Given the description of an element on the screen output the (x, y) to click on. 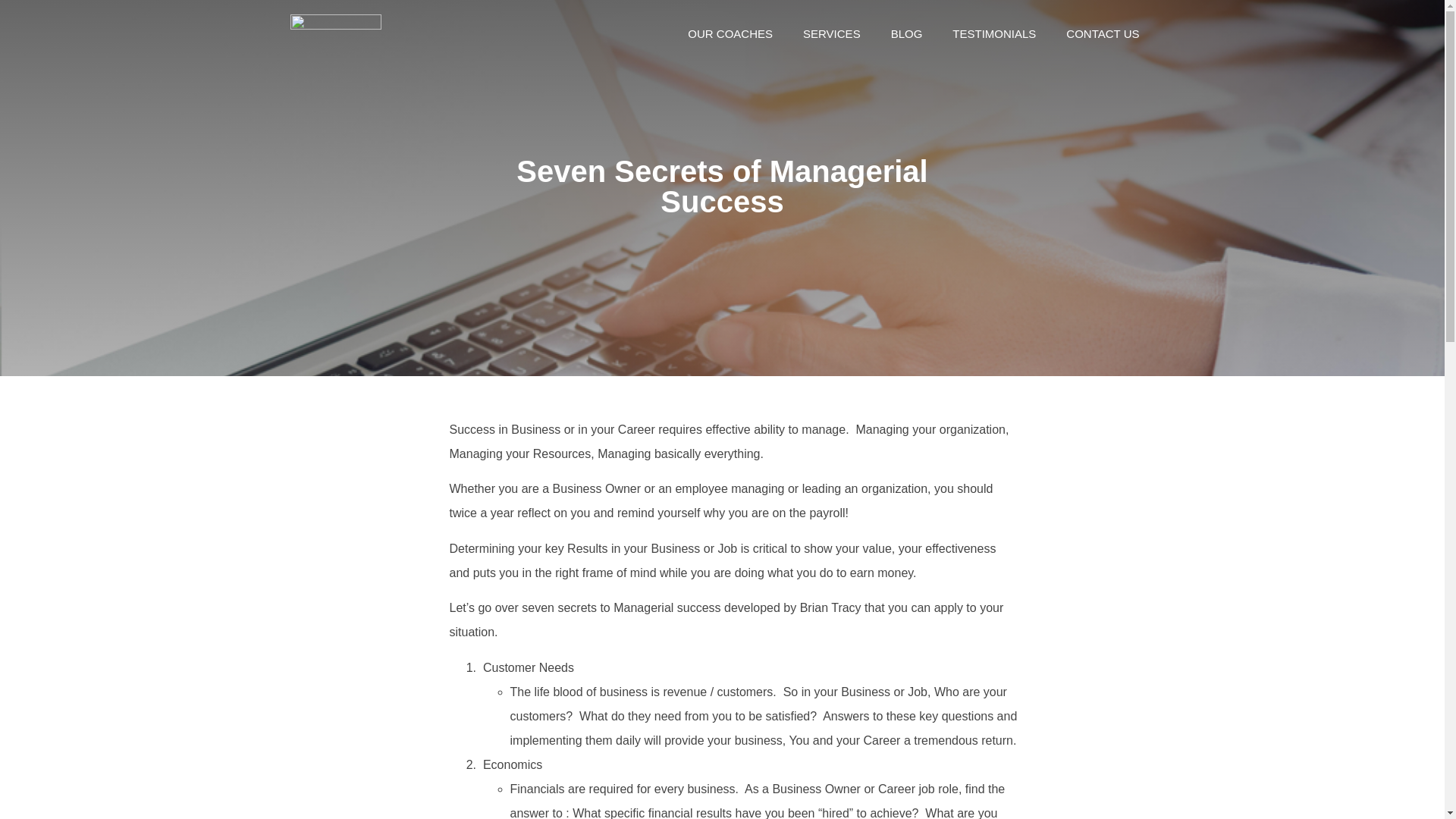
OUR COACHES (729, 33)
SERVICES (831, 33)
TESTIMONIALS (994, 33)
CONTACT US (1102, 33)
BLOG (906, 33)
